Given the description of an element on the screen output the (x, y) to click on. 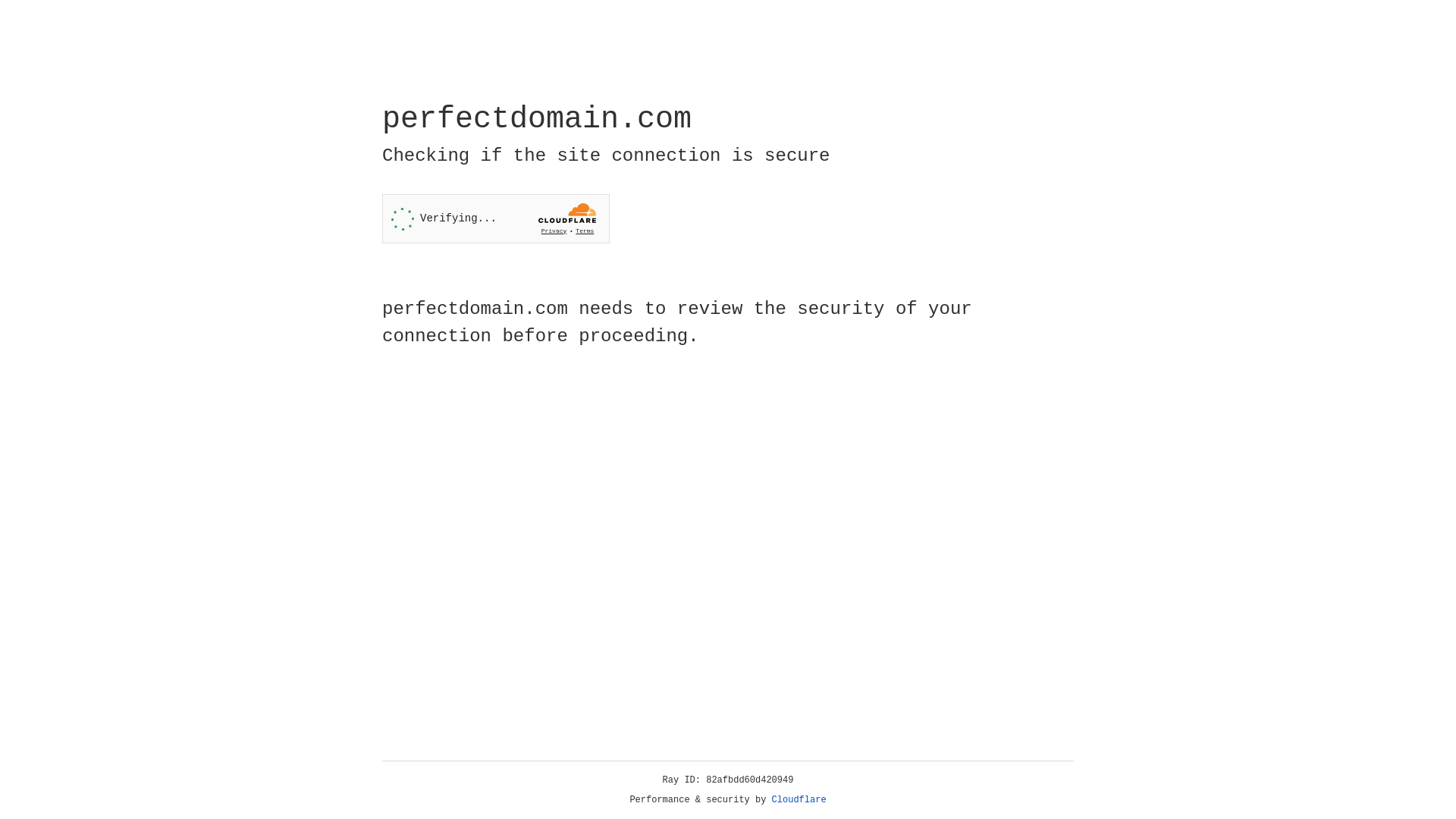
Cloudflare Element type: text (798, 799)
Widget containing a Cloudflare security challenge Element type: hover (495, 218)
